Given the description of an element on the screen output the (x, y) to click on. 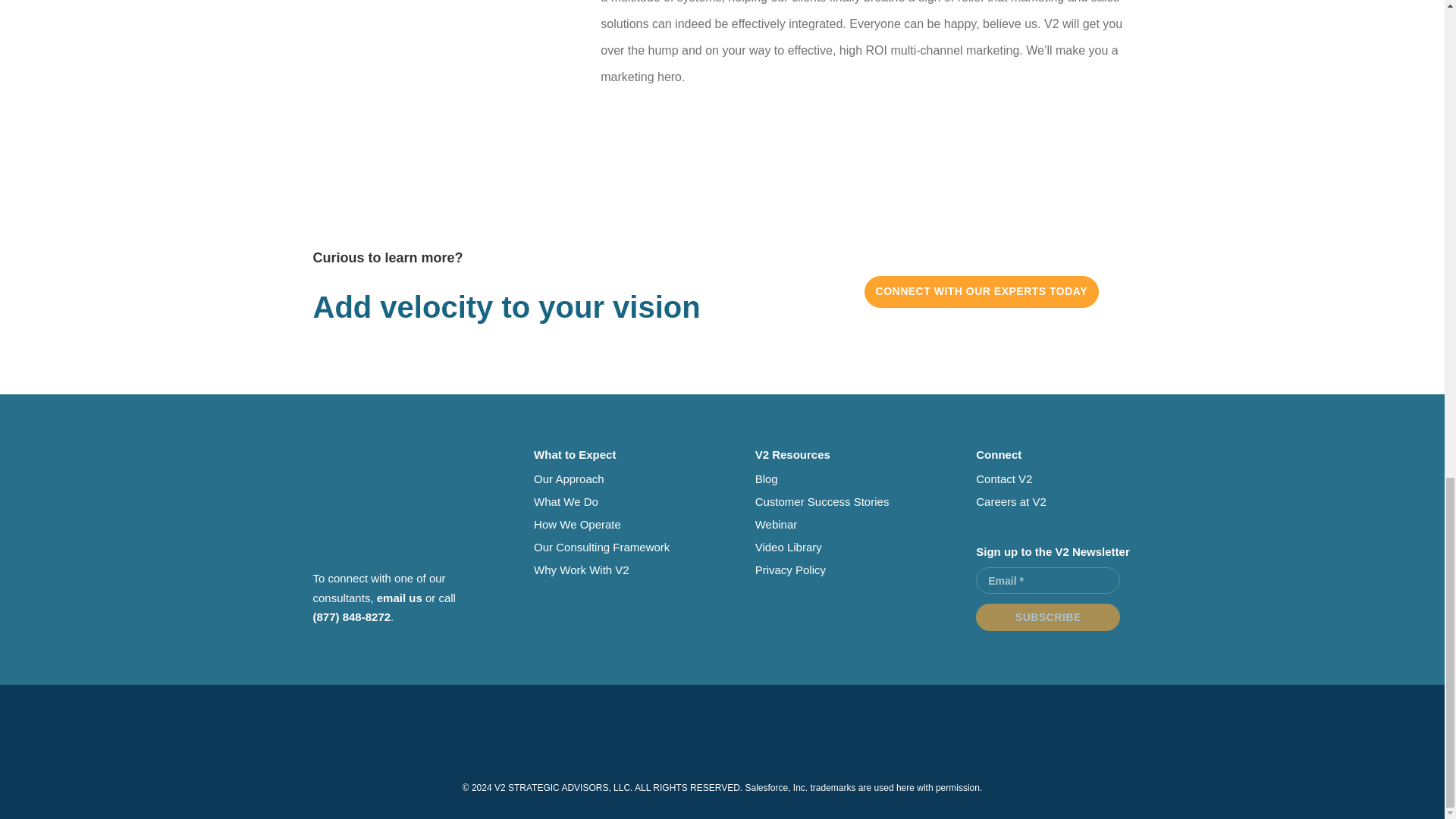
Subscribe (1047, 616)
